Given the description of an element on the screen output the (x, y) to click on. 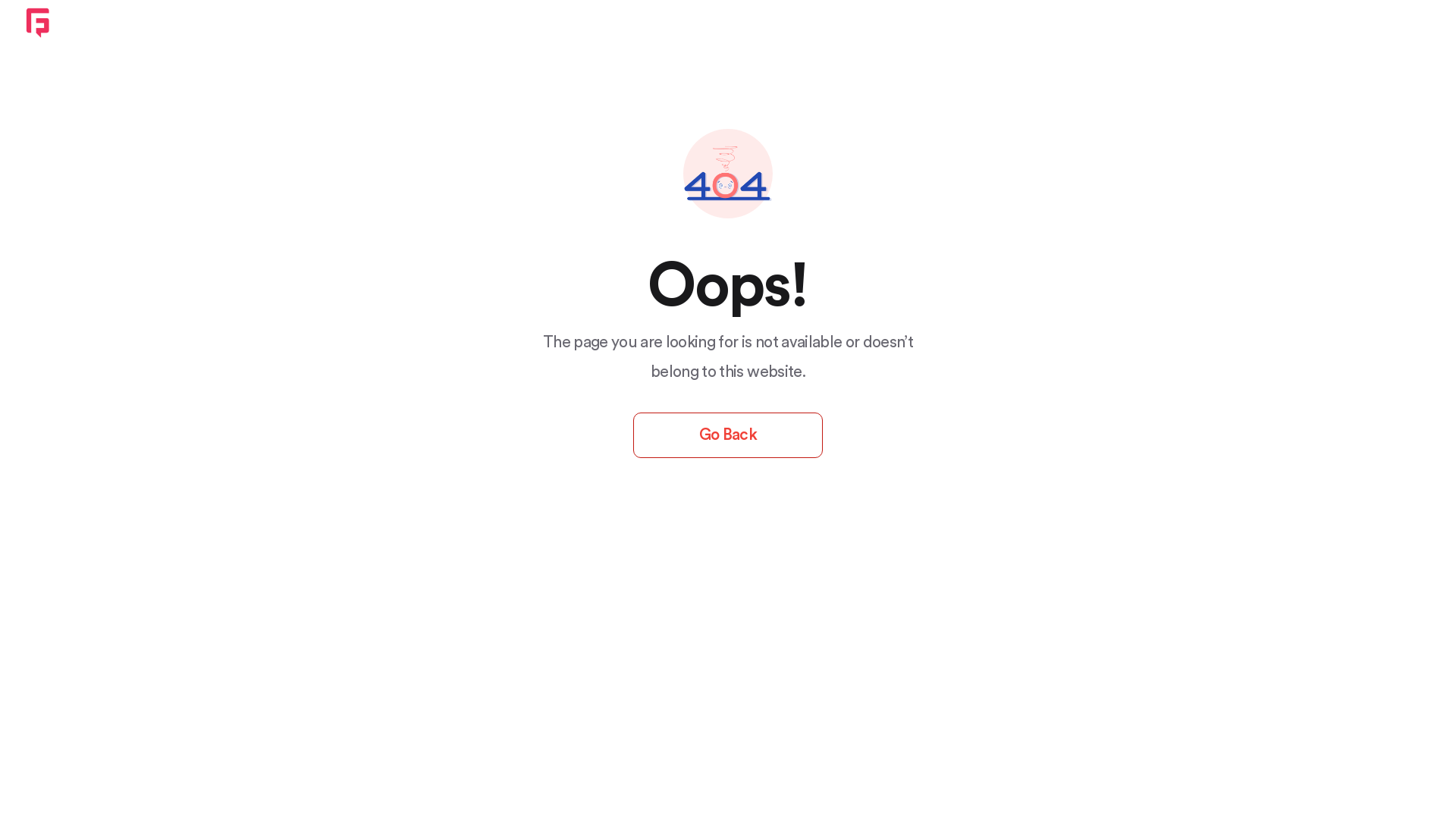
Go Back Element type: text (727, 435)
